Given the description of an element on the screen output the (x, y) to click on. 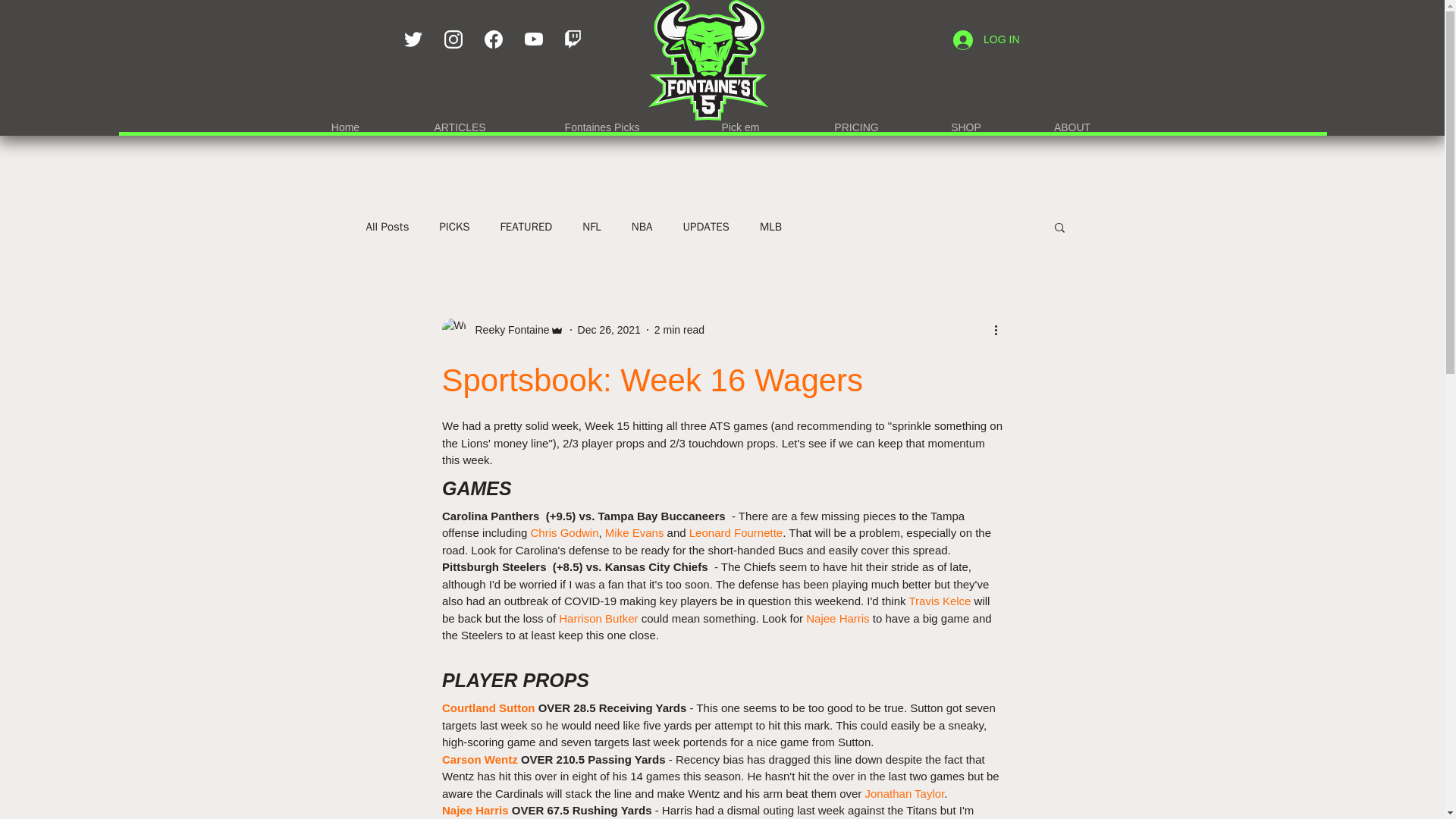
Pick em (739, 120)
PRICING (855, 120)
Travis Kelce (939, 600)
Leonard Fournette (734, 532)
Fontaines Picks (601, 120)
ARTICLES (459, 120)
Home (345, 120)
2 min read (678, 328)
Mike Evans (633, 532)
Chris Godwin (563, 532)
